Given the description of an element on the screen output the (x, y) to click on. 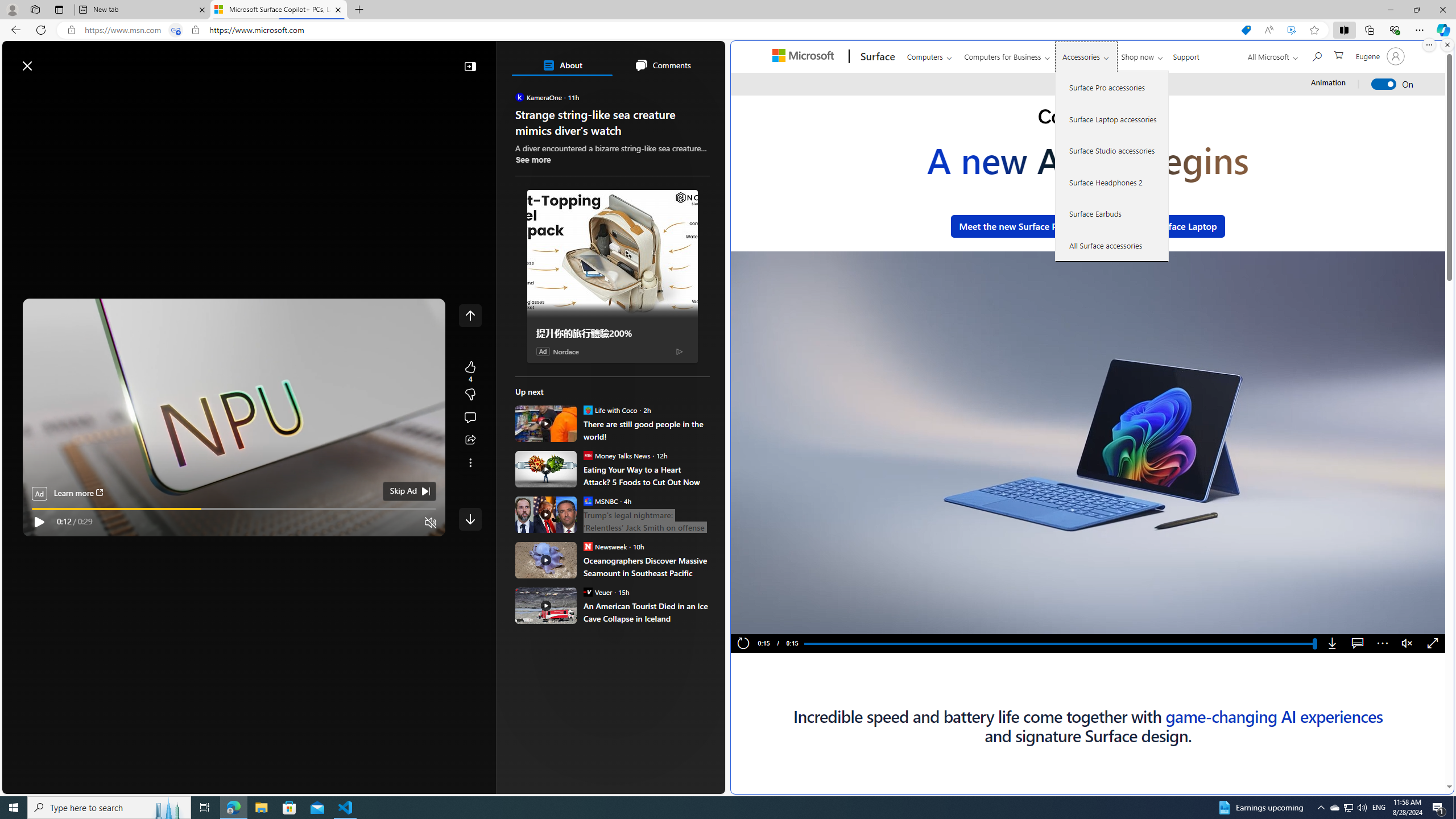
Support (1185, 54)
Newsweek (587, 546)
Notifications (676, 60)
Learn more (77, 493)
Life with Coco Life with Coco (609, 409)
Close split screen. (1447, 45)
Class: control icon-only (469, 315)
Copilot+ PC. (1088, 117)
